Given the description of an element on the screen output the (x, y) to click on. 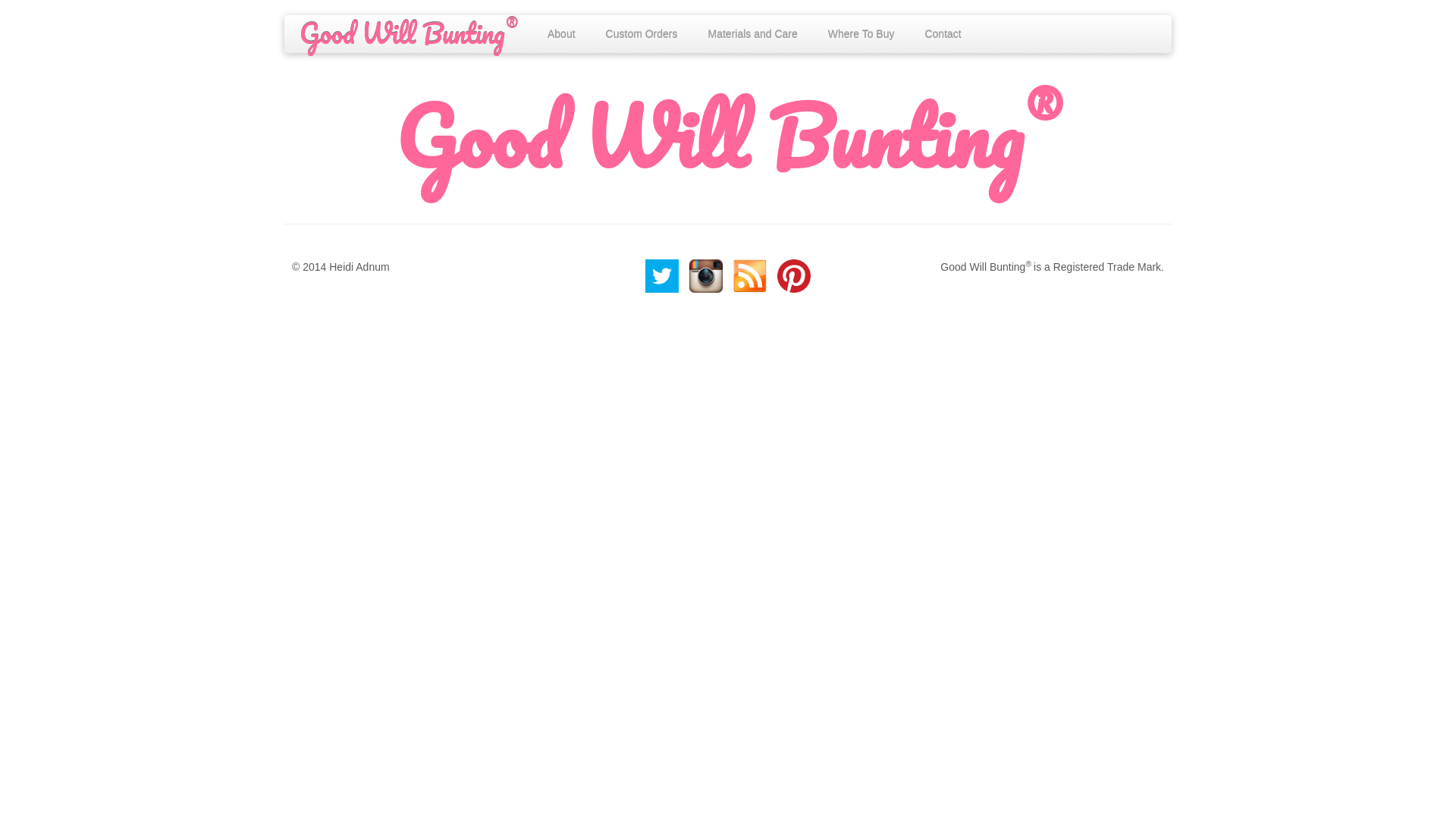
Contact Element type: text (942, 34)
Where To Buy Element type: text (861, 34)
Custom Orders Element type: text (641, 34)
About Element type: text (561, 34)
Materials and Care Element type: text (752, 34)
